Given the description of an element on the screen output the (x, y) to click on. 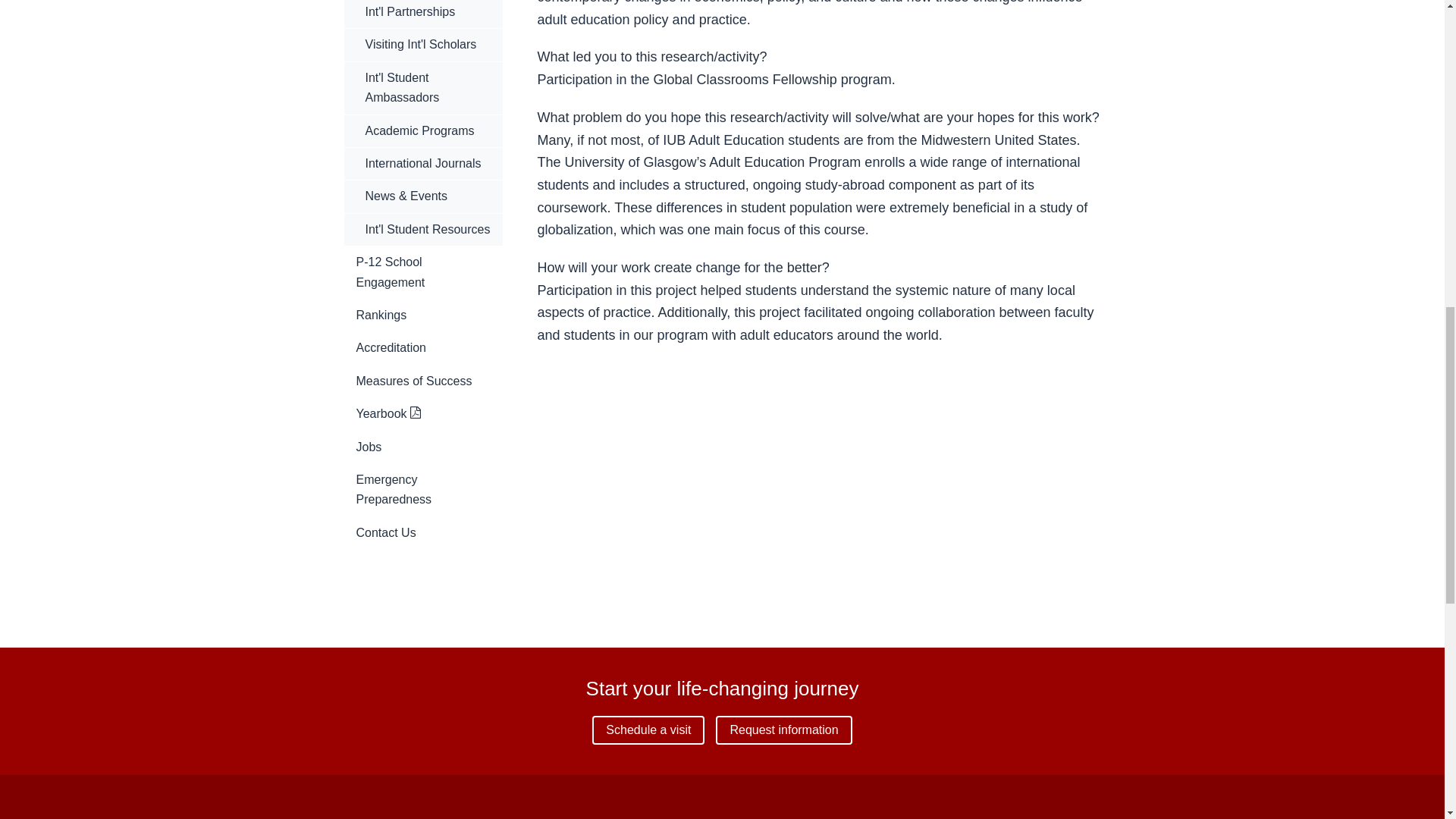
Schedule a campus visit (648, 729)
About (604, 818)
Request information (783, 729)
